Given the description of an element on the screen output the (x, y) to click on. 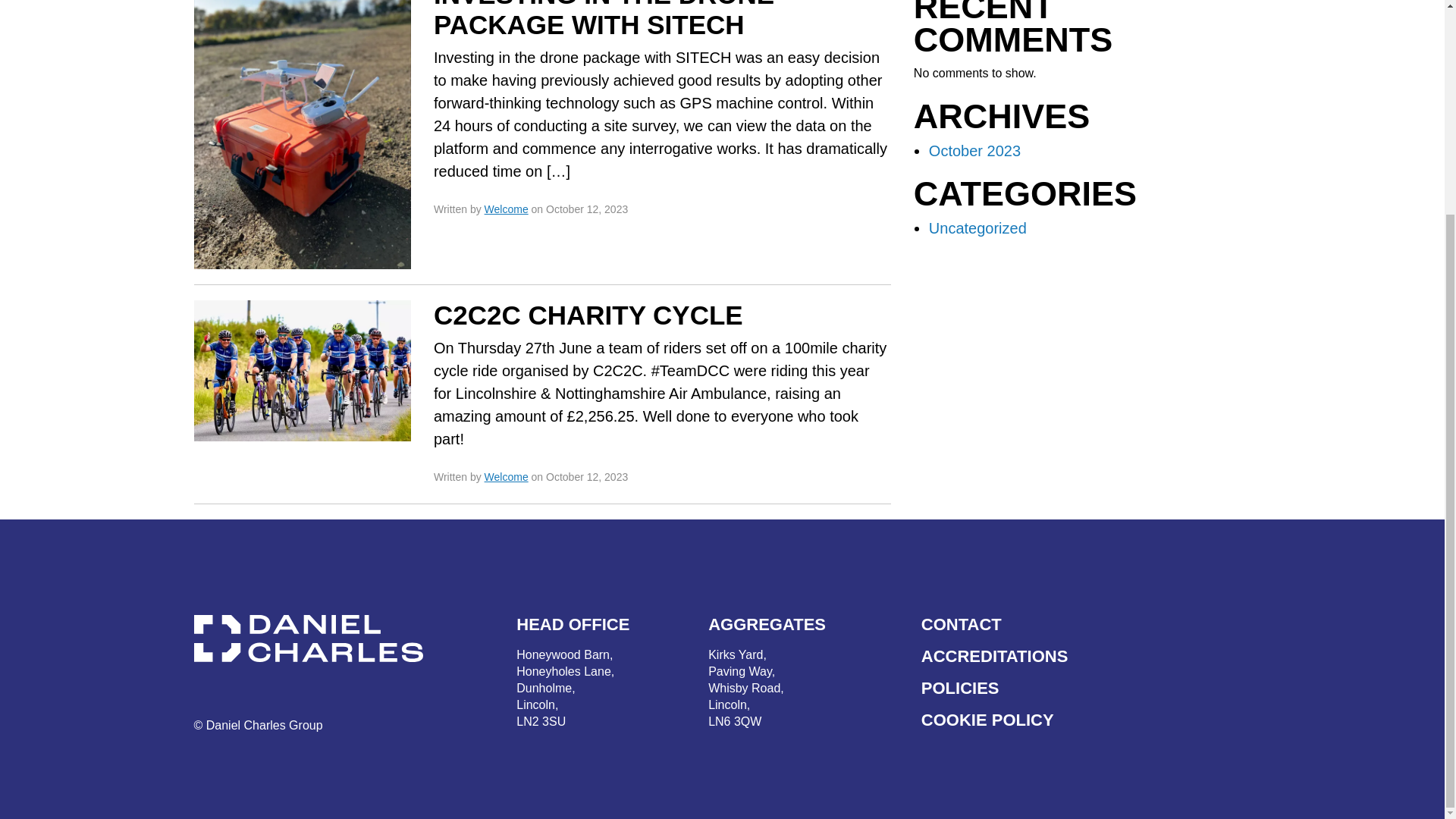
COOKIE POLICY (1082, 720)
Daniel Charles (317, 638)
Uncategorized (977, 228)
Permalink to C2C2C Charity Cycle (587, 315)
POLICIES (1082, 688)
Posts by Welcome (506, 209)
October 2023 (974, 150)
ACCREDITATIONS (745, 688)
Welcome (1082, 656)
